Given the description of an element on the screen output the (x, y) to click on. 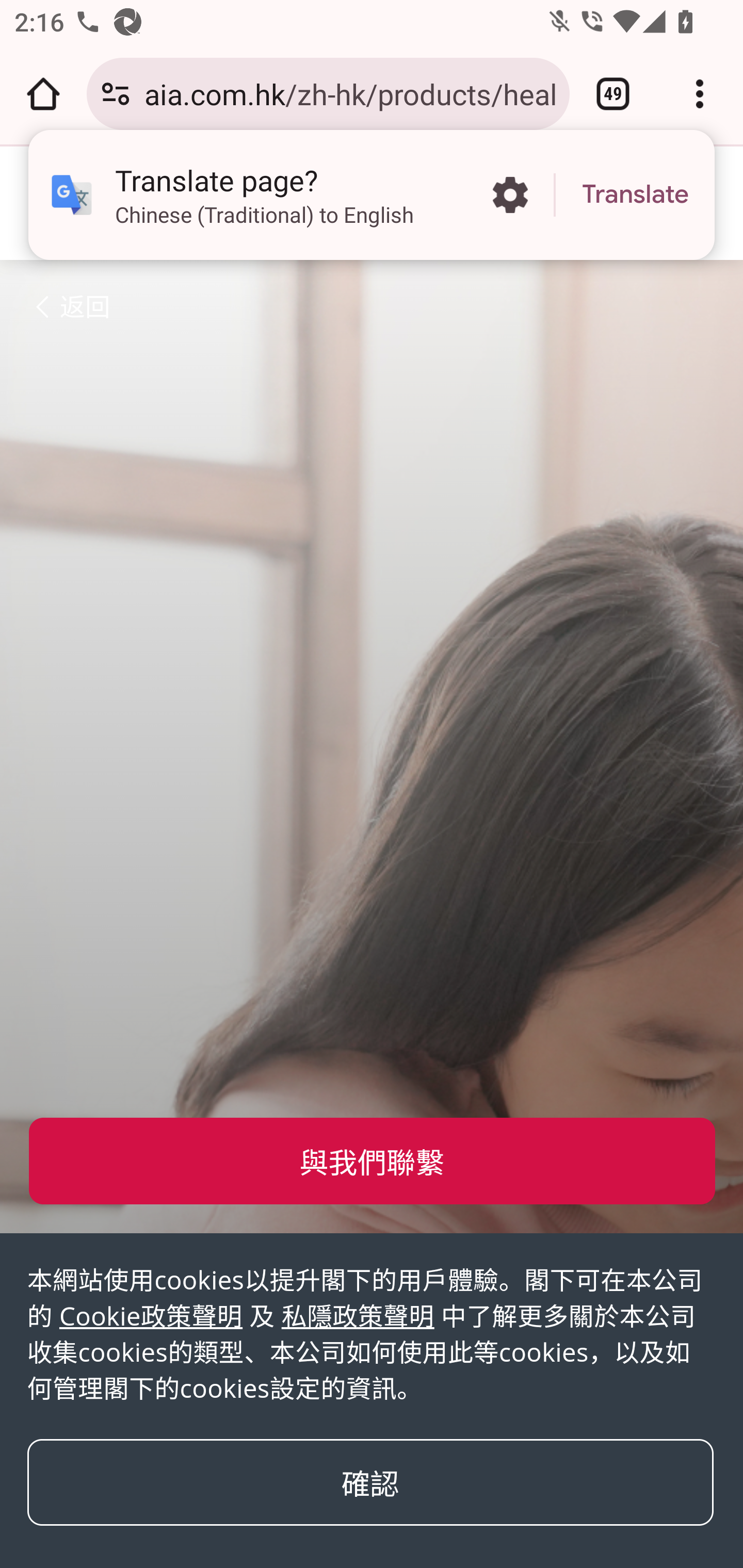
Open the home page (43, 93)
Connection is secure (115, 93)
Switch or close tabs (612, 93)
Customize and control Google Chrome (699, 93)
Translate (634, 195)
More options in the Translate page? (509, 195)
zh-hk (73, 202)
